Given the description of an element on the screen output the (x, y) to click on. 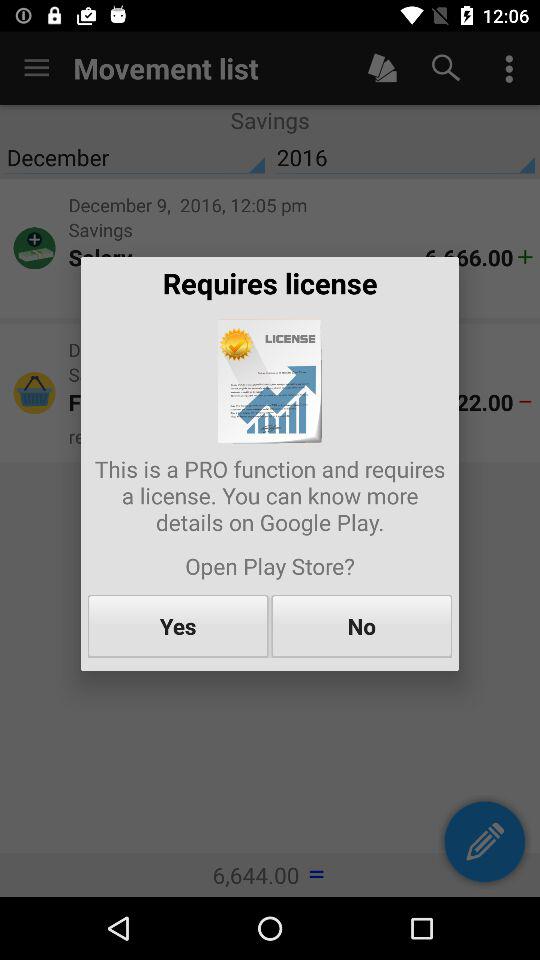
tap the item to the right of the yes item (361, 625)
